Given the description of an element on the screen output the (x, y) to click on. 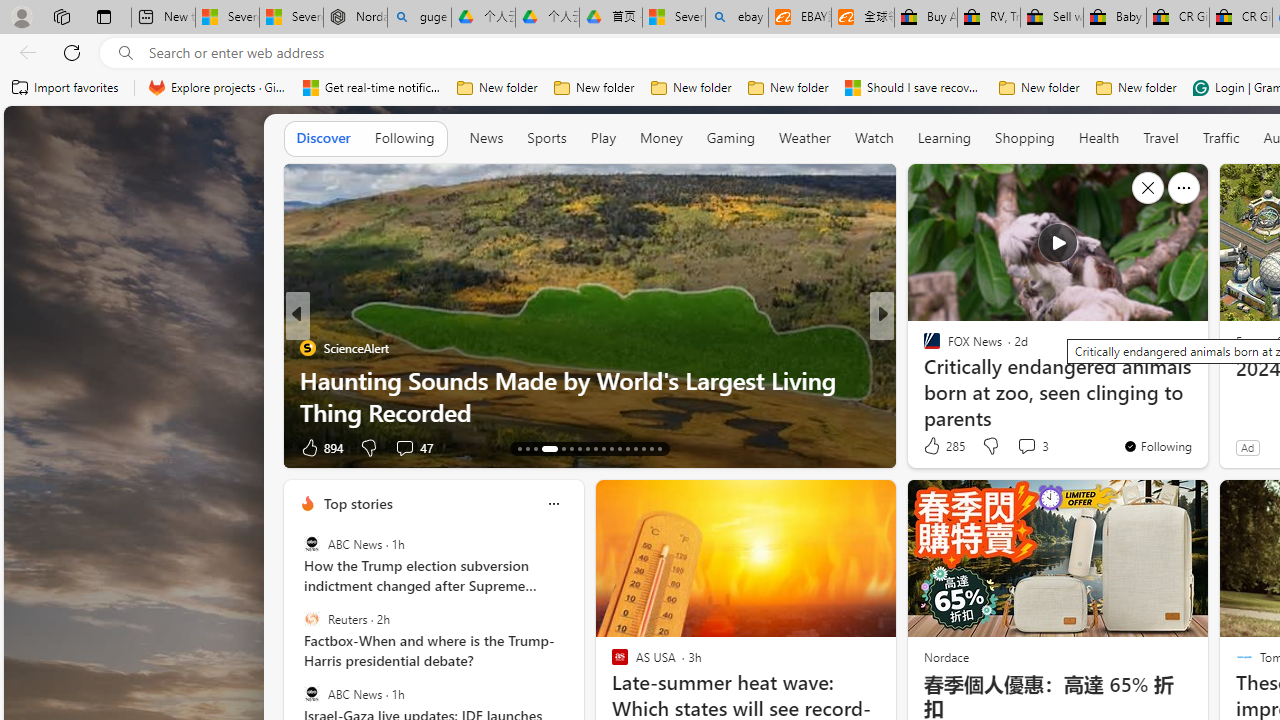
Travel (1160, 137)
AutomationID: tab-40 (642, 448)
View comments 6 Comment (1019, 447)
Komando (923, 380)
Weather (804, 137)
Start the conversation (1014, 447)
AutomationID: tab-14 (527, 448)
Health (1099, 137)
Watch (874, 138)
View comments 3 Comment (1026, 445)
Play (603, 138)
AutomationID: tab-25 (627, 448)
View comments 123 Comment (1013, 447)
